Given the description of an element on the screen output the (x, y) to click on. 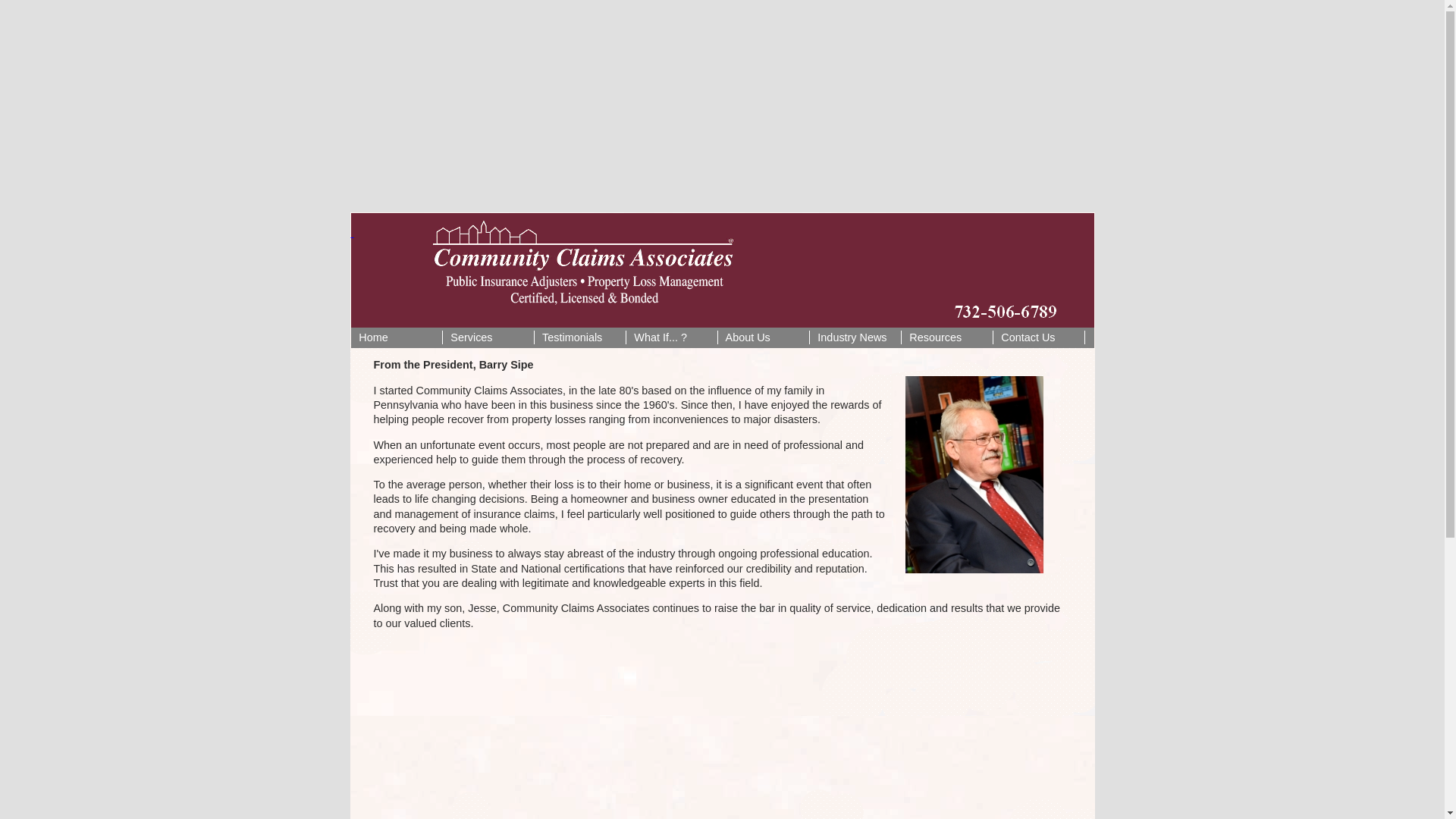
Public Insurance Adjusters - Fire Video (671, 337)
Public Insurance Adjusters - Testimonials (580, 337)
Public Insurance Adjusters - Contact Info (1038, 337)
  Resources (946, 337)
Public Insurance Adjusters - About Us (763, 337)
  Industry News (855, 337)
  Contact Us (1038, 337)
  Home (396, 337)
  What If... ? (671, 337)
Public Insurance Adjusters Services (488, 337)
  Testimonials (580, 337)
  Services (488, 337)
  About Us (763, 337)
Public Insurance Adjusters - Insurance Claim Resources (946, 337)
Advertisement (721, 730)
